Given the description of an element on the screen output the (x, y) to click on. 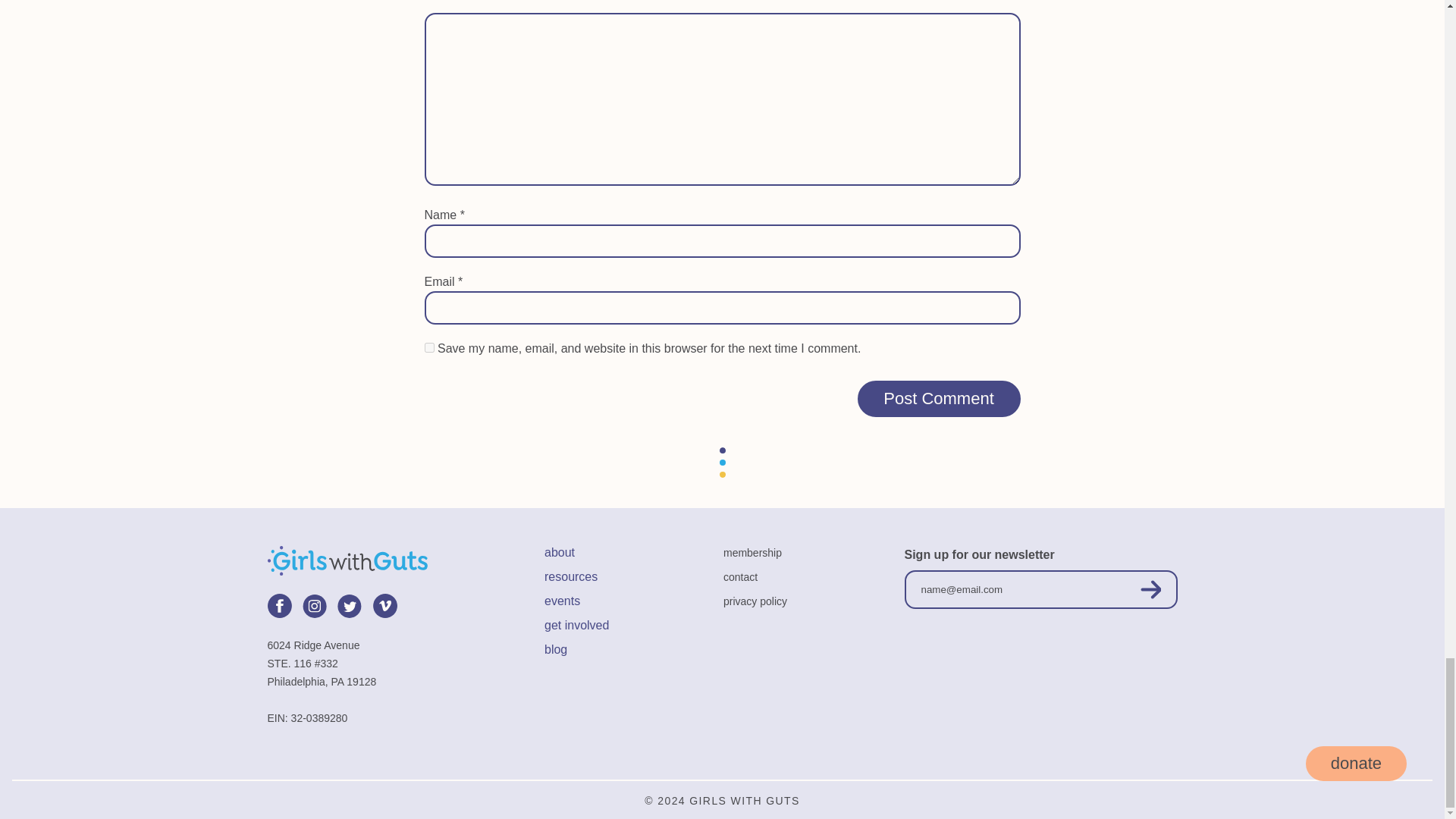
Post Comment (938, 398)
yes (429, 347)
